Given the description of an element on the screen output the (x, y) to click on. 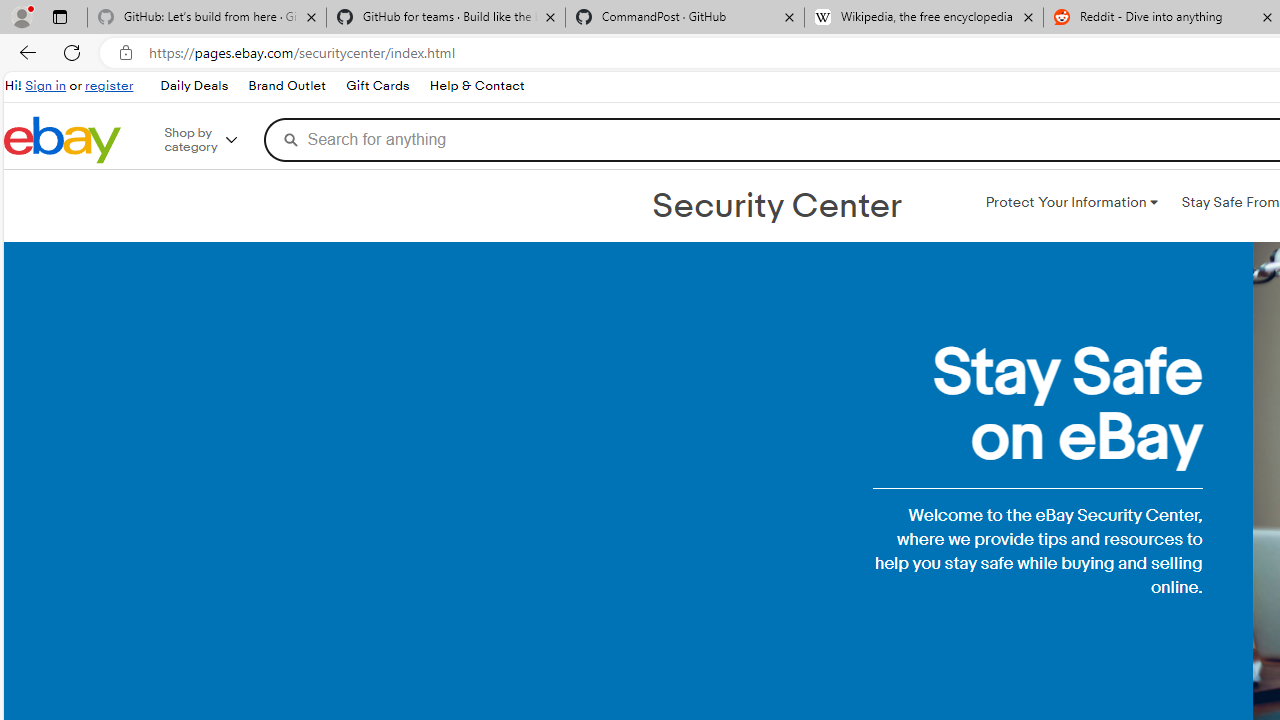
Gift Cards (377, 86)
Help & Contact (475, 85)
Brand Outlet (287, 86)
Help & Contact (476, 86)
Sign in (45, 85)
Protect Your Information  (1071, 202)
Gift Cards (376, 85)
Daily Deals (194, 86)
eBay Home (62, 139)
Shop by category (213, 140)
